Given the description of an element on the screen output the (x, y) to click on. 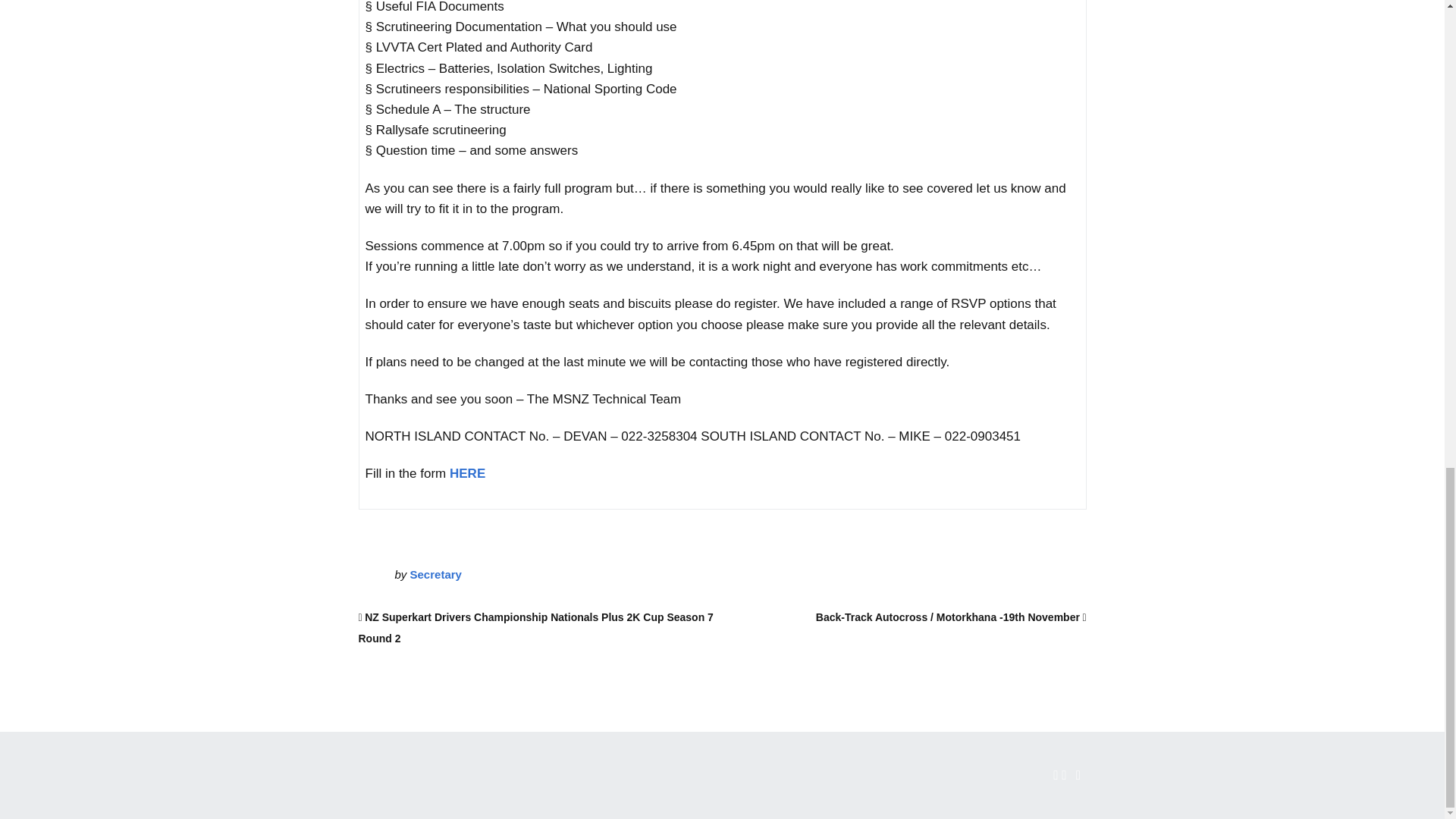
HERE (466, 473)
